Given the description of an element on the screen output the (x, y) to click on. 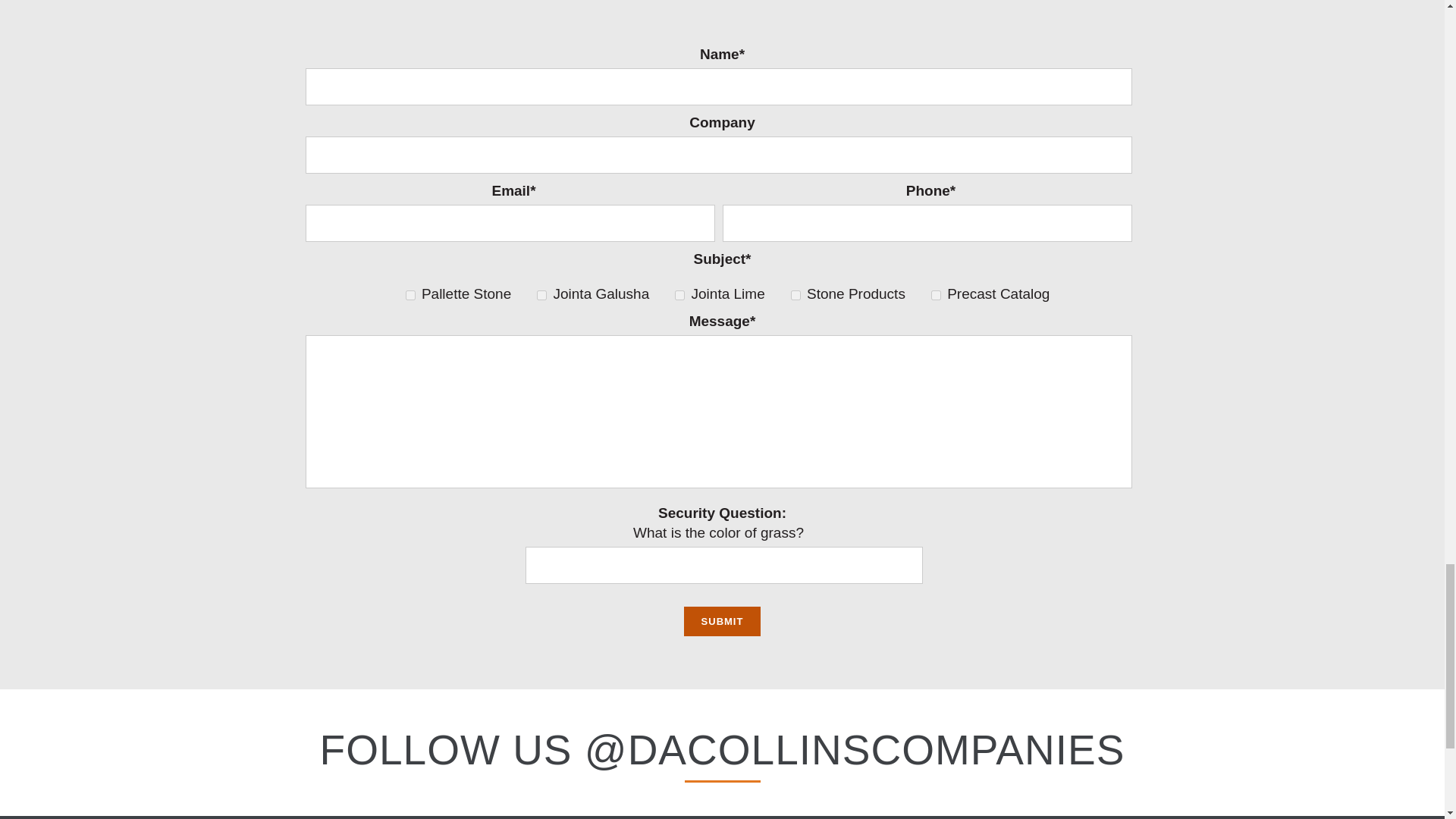
Jointa Lime (679, 295)
Jointa Galusha (542, 295)
Stone Products (795, 295)
Precast Catalog (935, 295)
Pallette Stone (410, 295)
SUBMIT (722, 621)
